Given the description of an element on the screen output the (x, y) to click on. 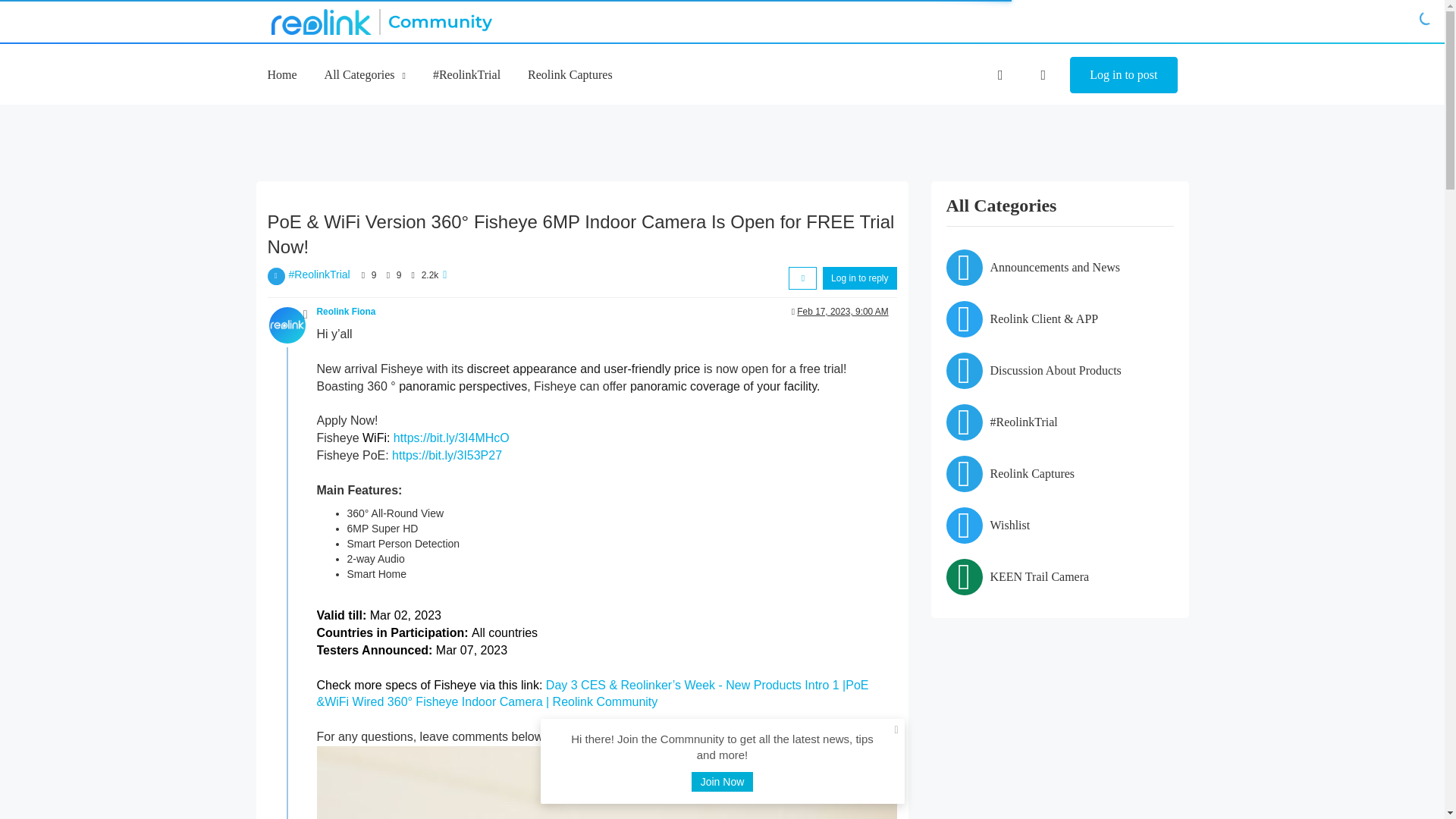
2165 (430, 275)
Log in to post (1123, 75)
Feb 17, 2023, 9:00 AM (842, 311)
Views (413, 275)
Log in to reply (859, 277)
Posts (387, 275)
Posters (362, 275)
Reolink Captures (569, 74)
Reolink Fiona (346, 311)
Sort by (802, 277)
